Given the description of an element on the screen output the (x, y) to click on. 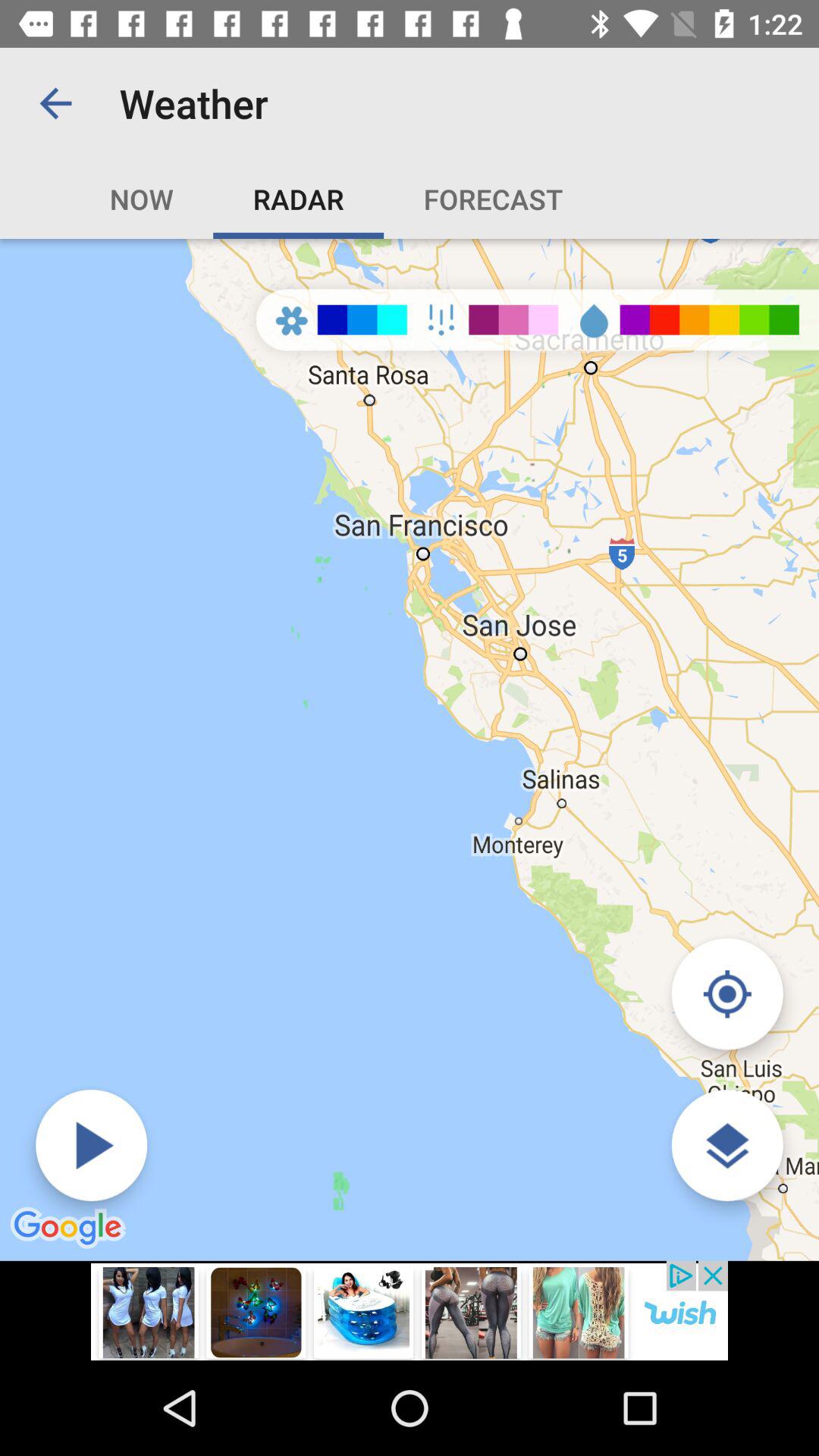
video play button (91, 1145)
